Given the description of an element on the screen output the (x, y) to click on. 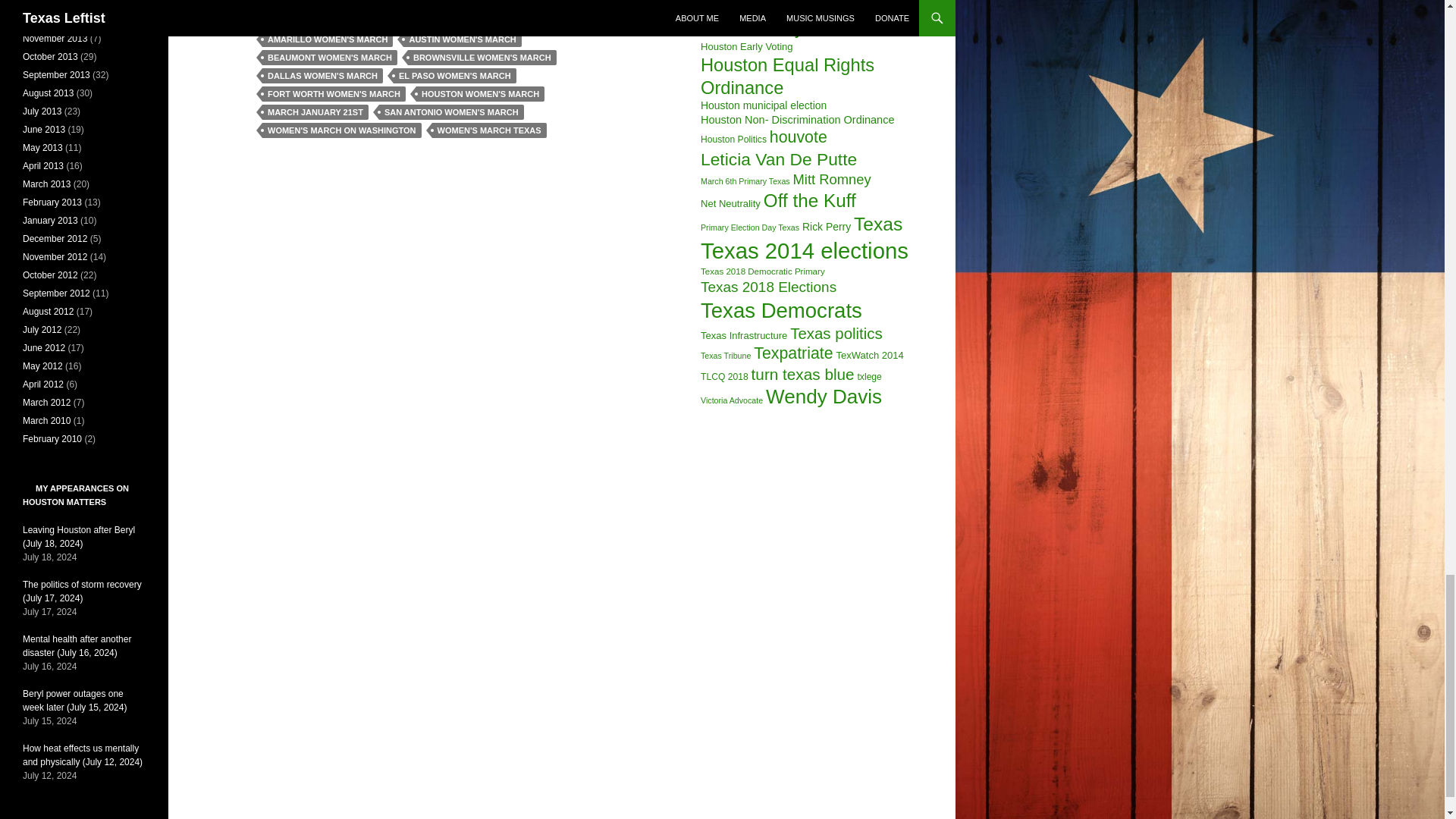
AUSTIN WOMEN'S MARCH (462, 38)
AMARILLO WOMEN'S MARCH (327, 38)
